Given the description of an element on the screen output the (x, y) to click on. 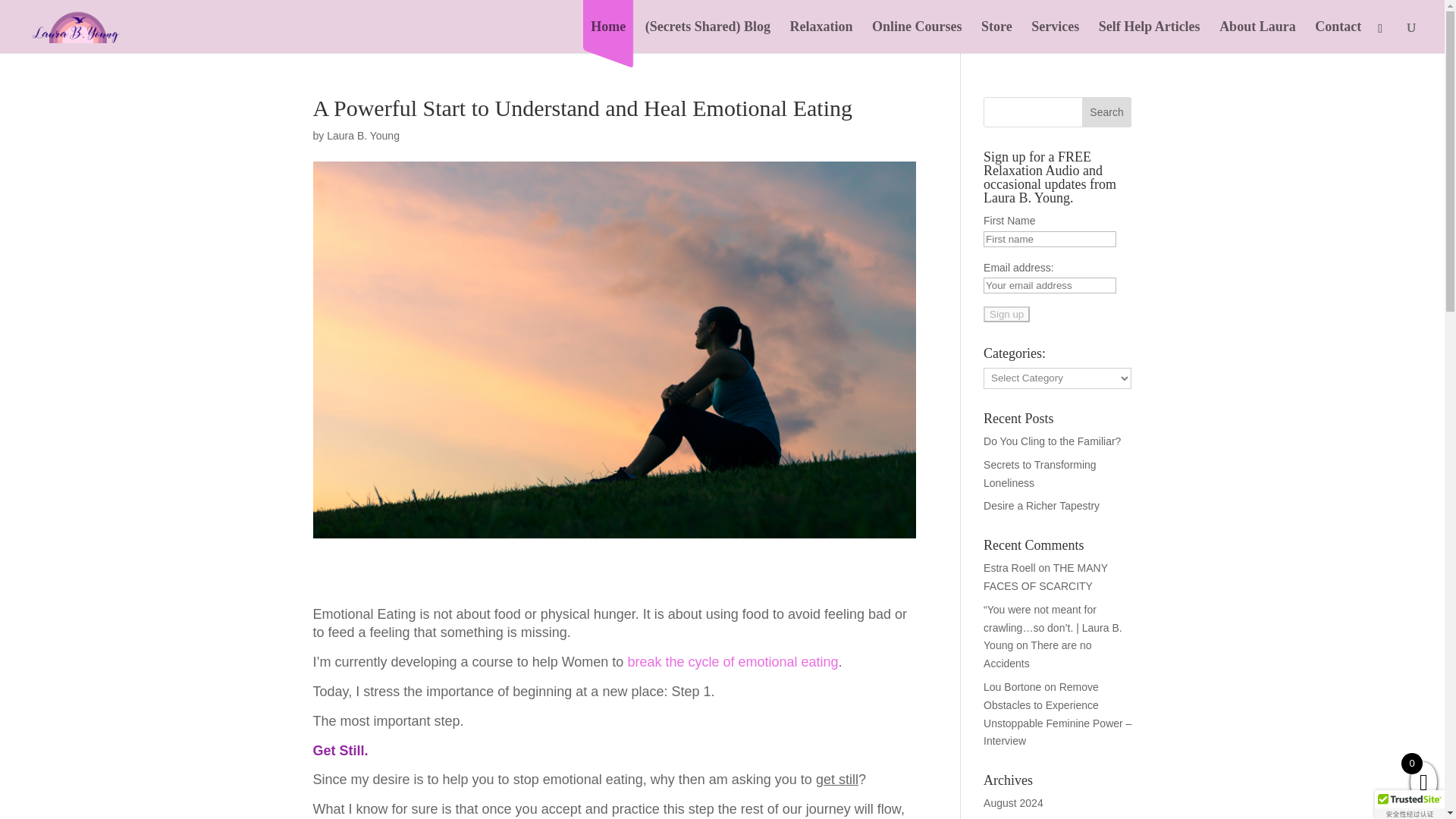
Search (1106, 112)
break the cycle of emotional eating (732, 661)
Posts by Laura B. Young (362, 135)
Sign up (1006, 314)
Desire a Richer Tapestry (1041, 505)
Self Help Articles (1149, 37)
Sign up (1006, 314)
Services (1054, 37)
THE MANY FACES OF SCARCITY (1046, 576)
August 2024 (1013, 802)
